Given the description of an element on the screen output the (x, y) to click on. 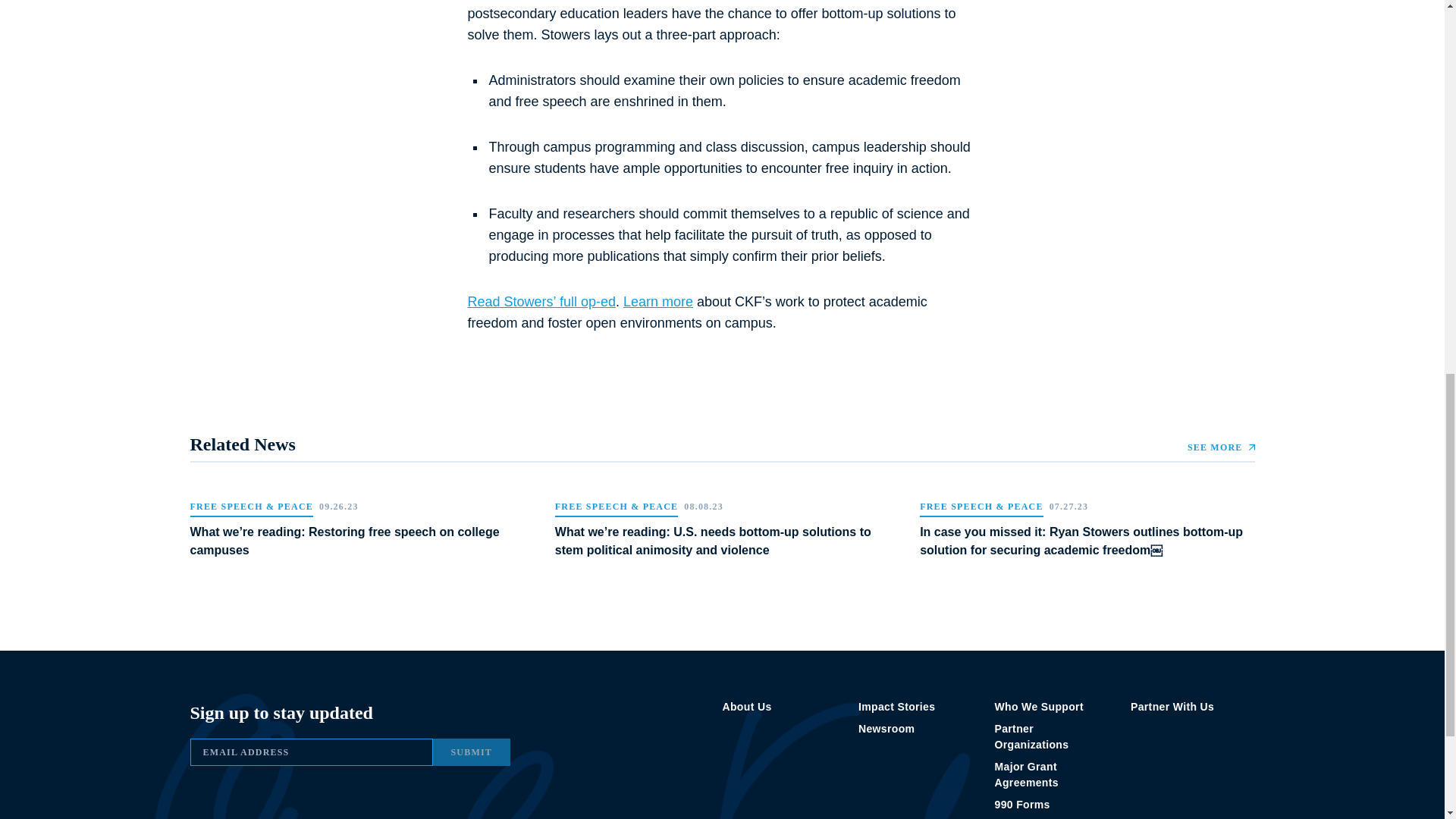
Submit (471, 751)
